Given the description of an element on the screen output the (x, y) to click on. 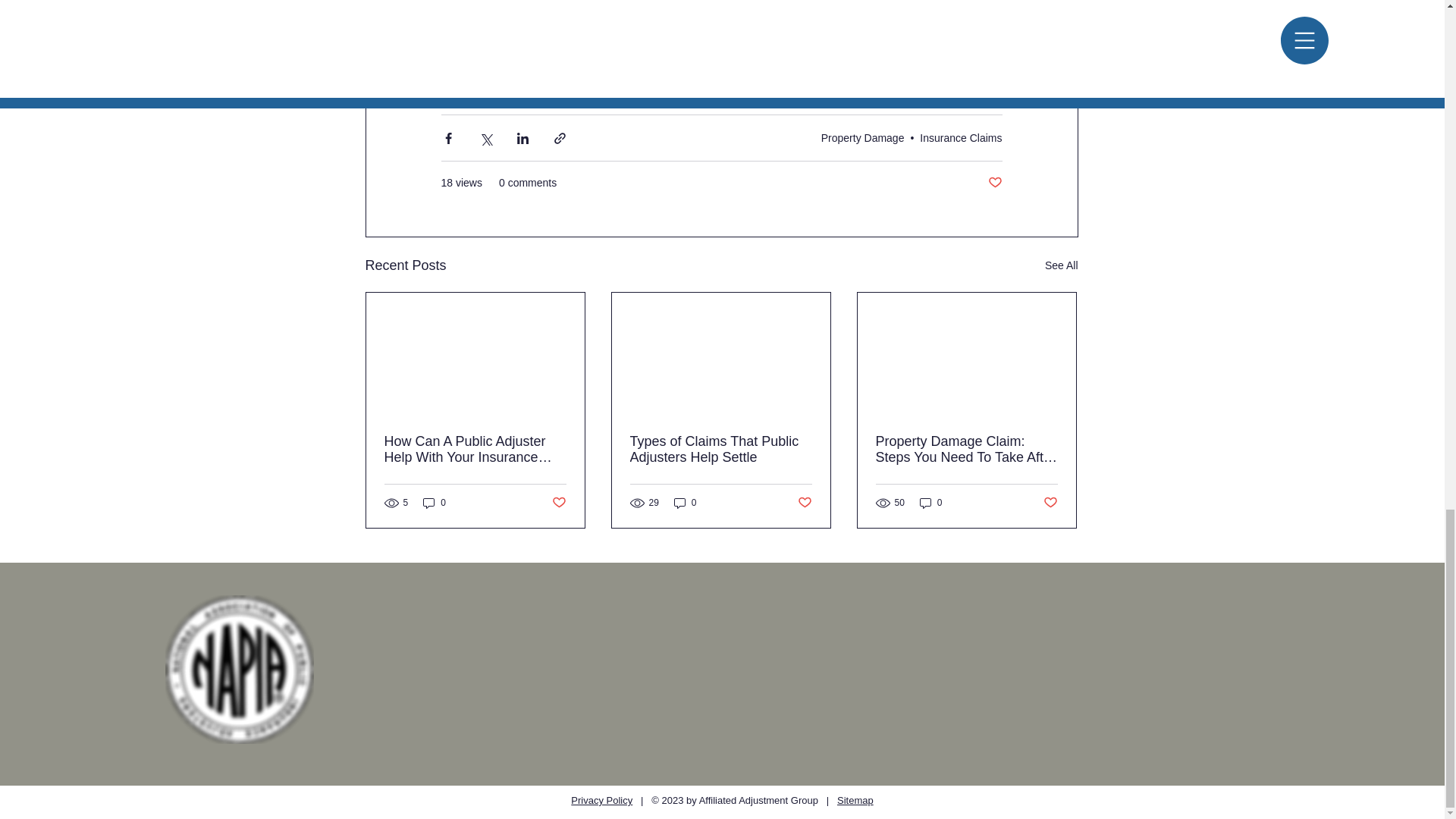
Commercial Claims (855, 51)
Types of Claims That Public Adjusters Help Settle (719, 450)
Property Damage (862, 137)
Post not marked as liked (994, 182)
team (454, 4)
Residential Claims (596, 79)
0 (434, 503)
0 (685, 503)
Public Adjuster (640, 51)
Property Damage (742, 51)
Affiliated Adjustment Group (515, 51)
How Can A Public Adjuster Help With Your Insurance Claim? (475, 450)
Post not marked as liked (558, 503)
See All (1061, 265)
Loss Consultant (489, 79)
